Given the description of an element on the screen output the (x, y) to click on. 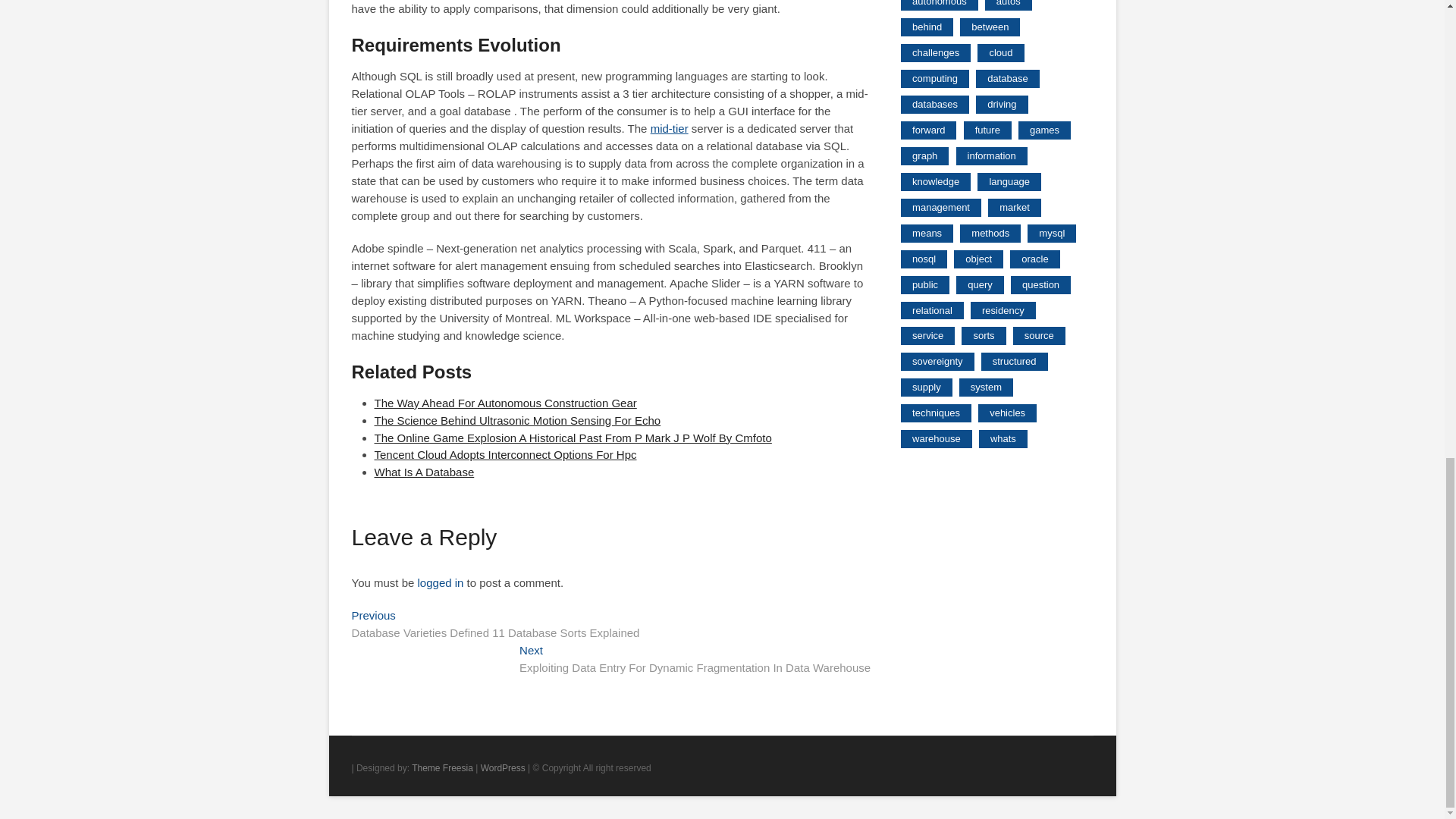
WordPress (502, 767)
Theme Freesia (442, 767)
